Given the description of an element on the screen output the (x, y) to click on. 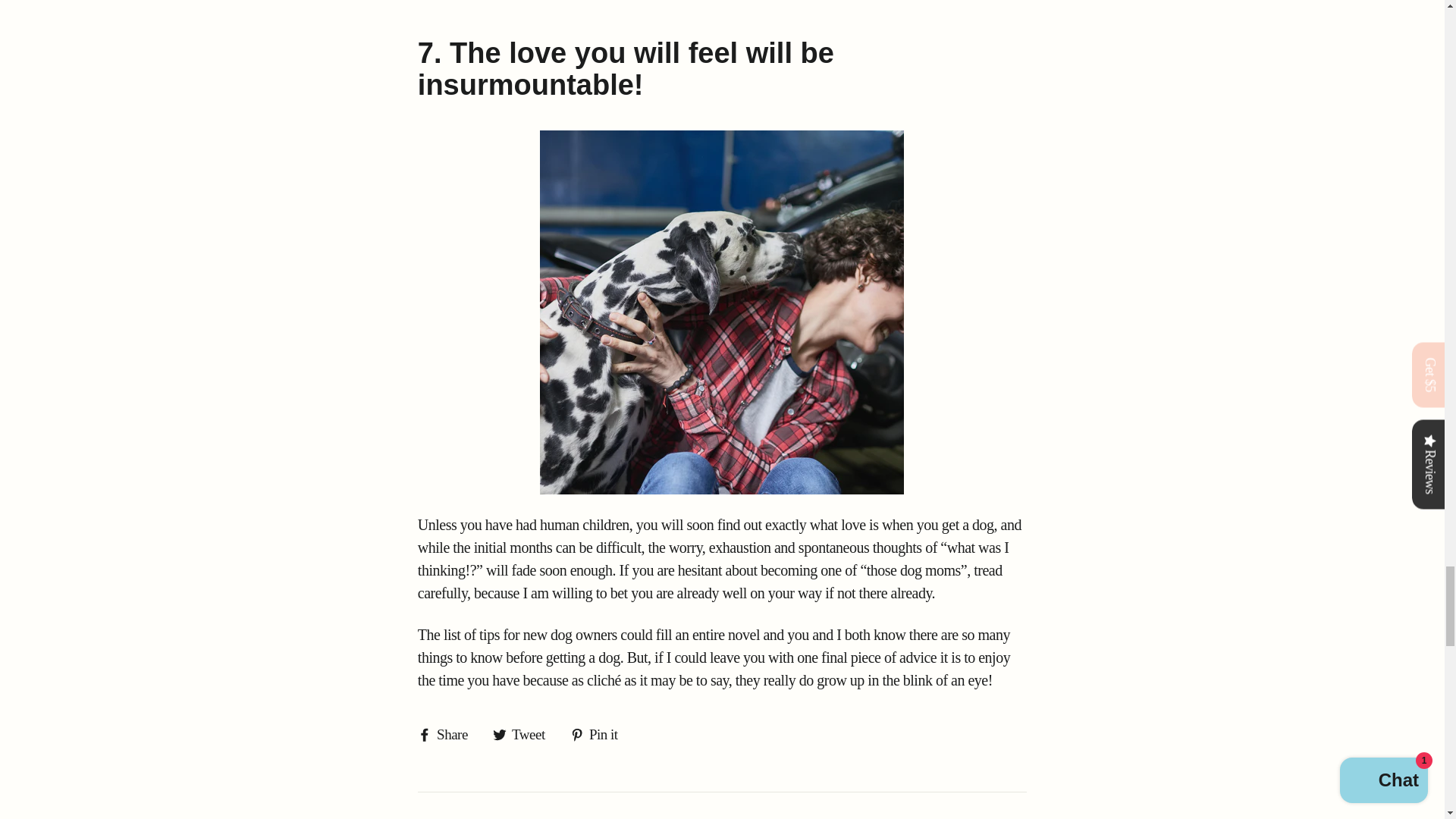
Pin on Pinterest (599, 734)
Share on Facebook (448, 734)
Tweet on Twitter (524, 734)
